Given the description of an element on the screen output the (x, y) to click on. 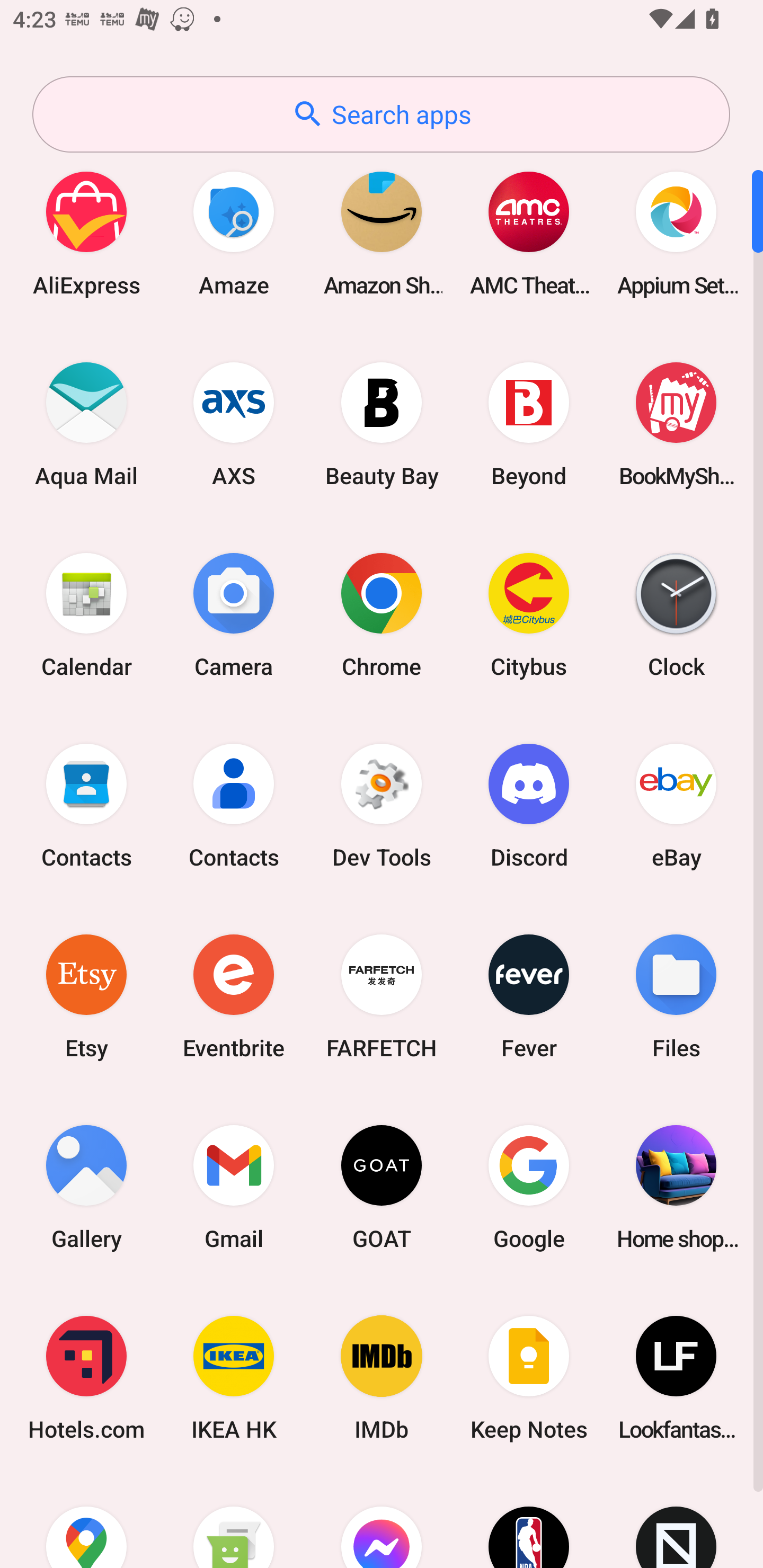
  Search apps (381, 114)
AliExpress (86, 233)
Amaze (233, 233)
Amazon Shopping (381, 233)
AMC Theatres (528, 233)
Appium Settings (676, 233)
Aqua Mail (86, 424)
AXS (233, 424)
Beauty Bay (381, 424)
Beyond (528, 424)
BookMyShow (676, 424)
Calendar (86, 614)
Camera (233, 614)
Chrome (381, 614)
Citybus (528, 614)
Clock (676, 614)
Contacts (86, 805)
Contacts (233, 805)
Dev Tools (381, 805)
Discord (528, 805)
eBay (676, 805)
Etsy (86, 996)
Eventbrite (233, 996)
FARFETCH (381, 996)
Fever (528, 996)
Files (676, 996)
Gallery (86, 1186)
Gmail (233, 1186)
GOAT (381, 1186)
Google (528, 1186)
Home shopping (676, 1186)
Hotels.com (86, 1377)
IKEA HK (233, 1377)
IMDb (381, 1377)
Keep Notes (528, 1377)
Lookfantastic (676, 1377)
Maps (86, 1520)
Messaging (233, 1520)
Messenger (381, 1520)
NBA (528, 1520)
Novelship (676, 1520)
